Given the description of an element on the screen output the (x, y) to click on. 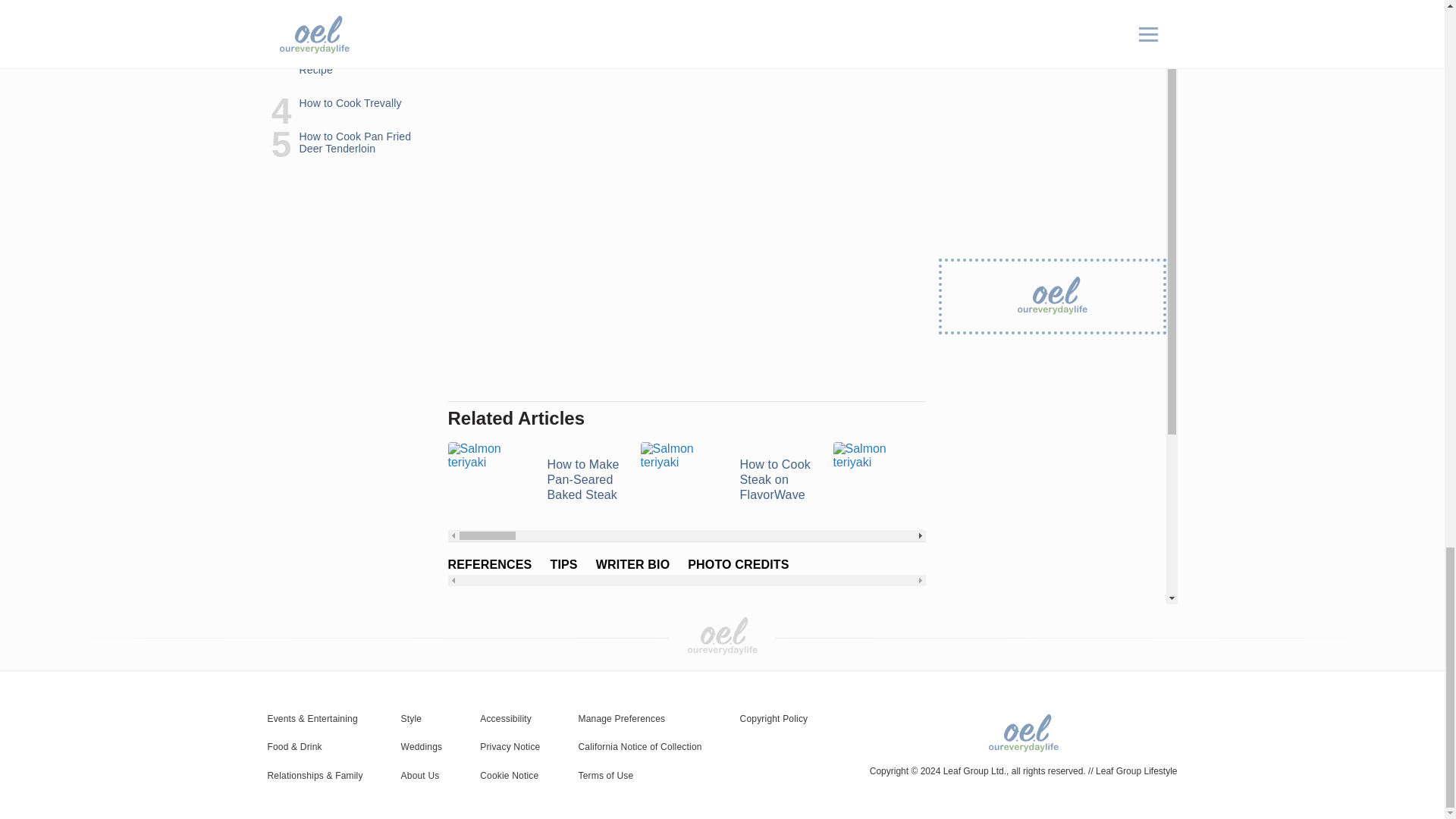
Add Flavor to Foods With This ... (919, 479)
How to Cook Steak on FlavorWave (726, 479)
How to Make Pan-Seared Baked Steak (533, 479)
How to Cook Pan Fried Deer Tenderloin (1304, 479)
How to Cook Trevally (1112, 479)
